Given the description of an element on the screen output the (x, y) to click on. 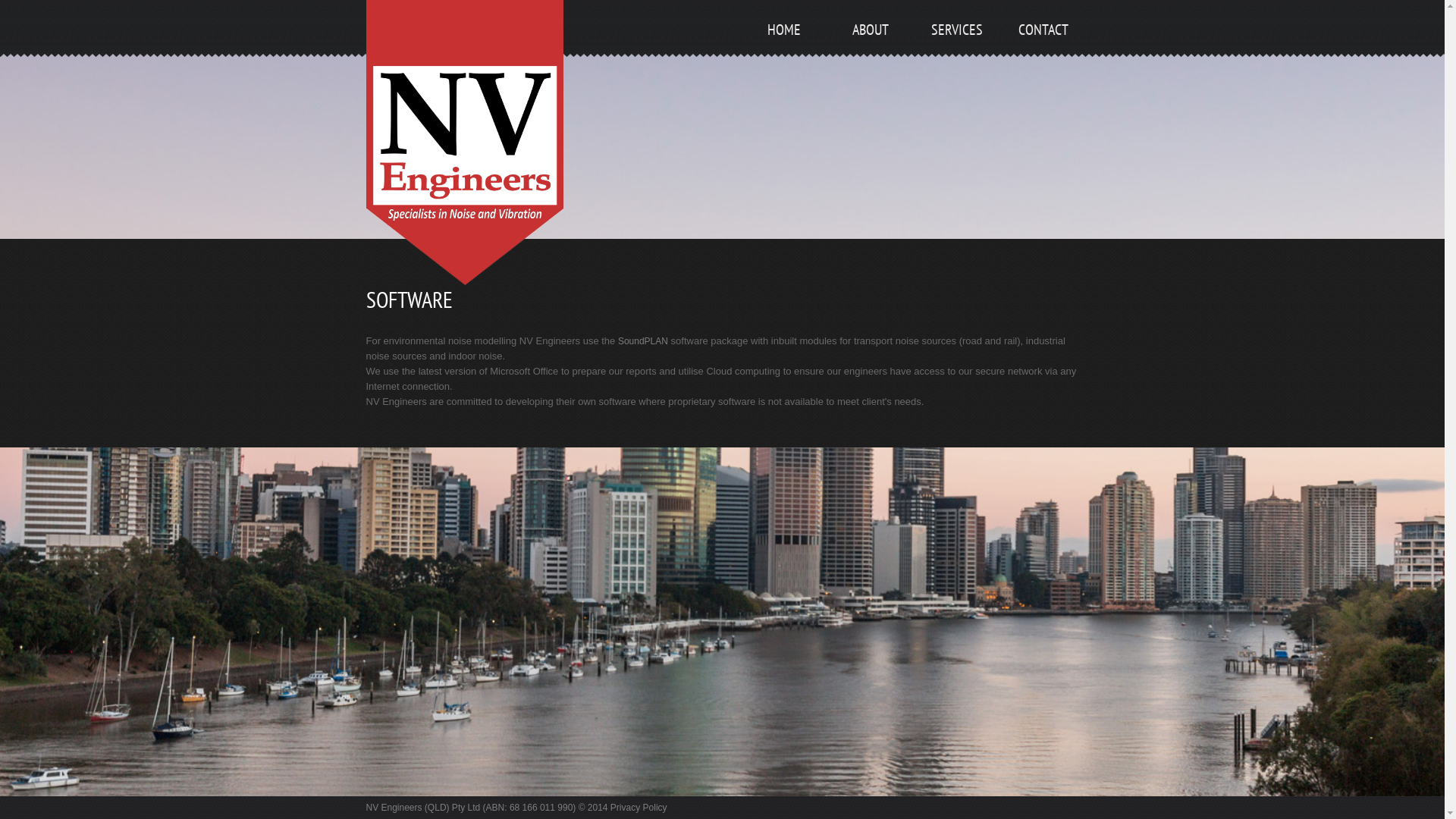
HOME Element type: text (783, 48)
CONTACT Element type: text (1042, 48)
SERVICES Element type: text (955, 48)
Privacy Policy Element type: text (638, 807)
SoundPLAN Element type: text (643, 340)
ABOUT Element type: text (869, 48)
